Given the description of an element on the screen output the (x, y) to click on. 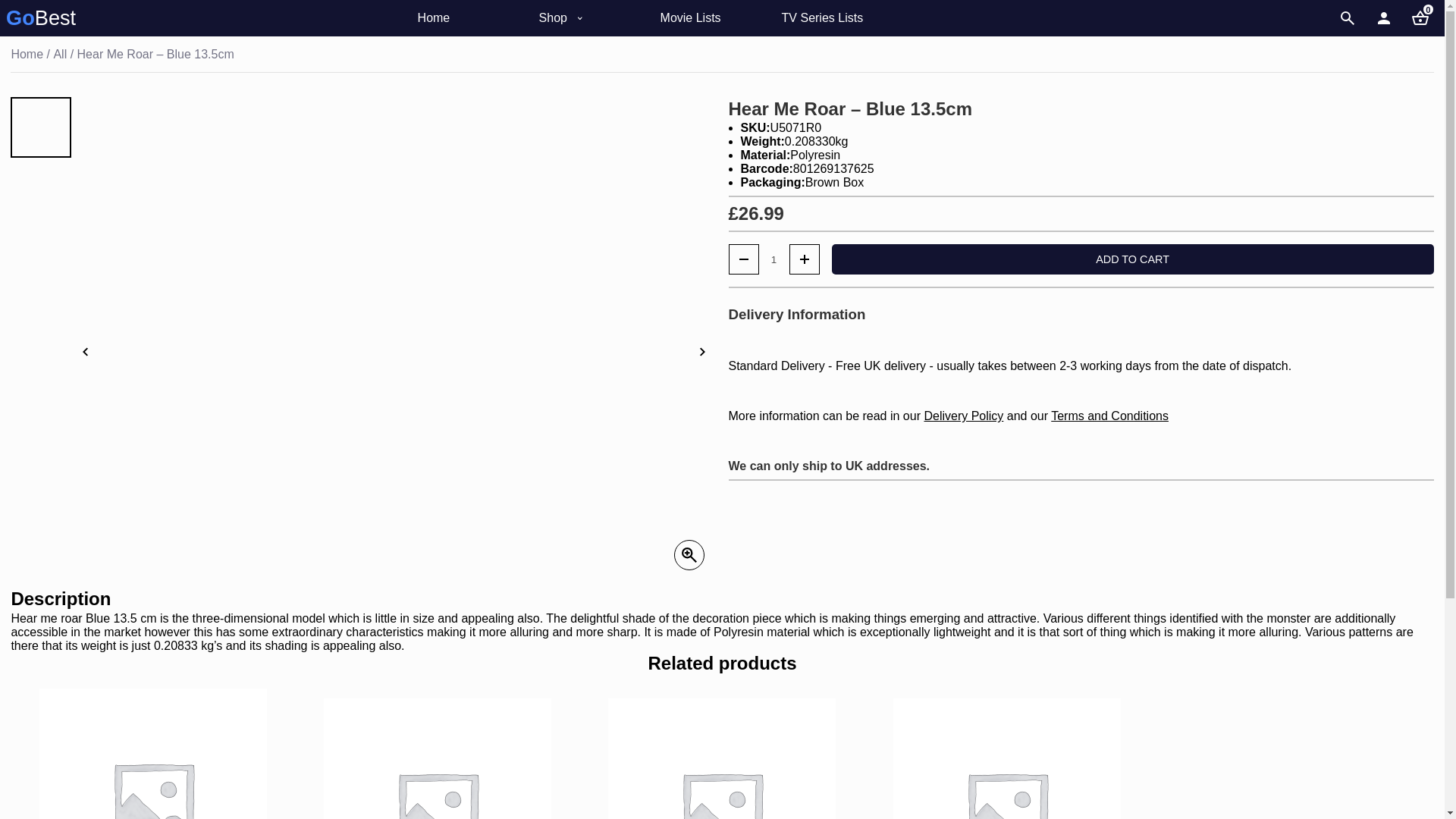
1 (773, 259)
Delivery Policy (963, 415)
GoBest (40, 17)
ADD TO CART (1131, 259)
Home (26, 54)
TV Series Lists (823, 18)
Shop (581, 18)
0 (1420, 18)
Home (459, 18)
Movie Lists (702, 18)
